Given the description of an element on the screen output the (x, y) to click on. 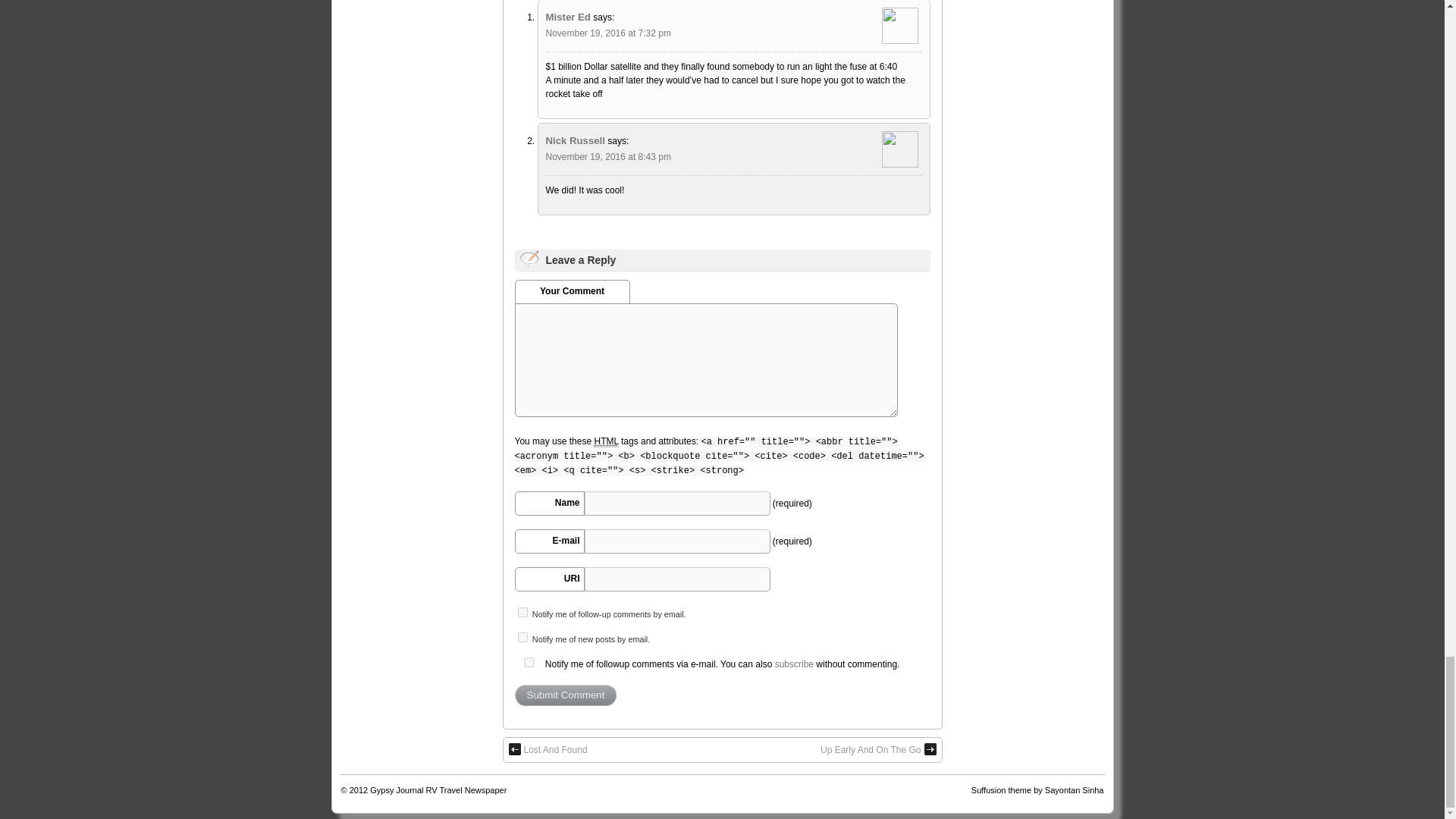
subscribe (521, 637)
HyperText Markup Language (605, 441)
subscribe (521, 612)
Submit Comment (564, 694)
yes (528, 662)
